Given the description of an element on the screen output the (x, y) to click on. 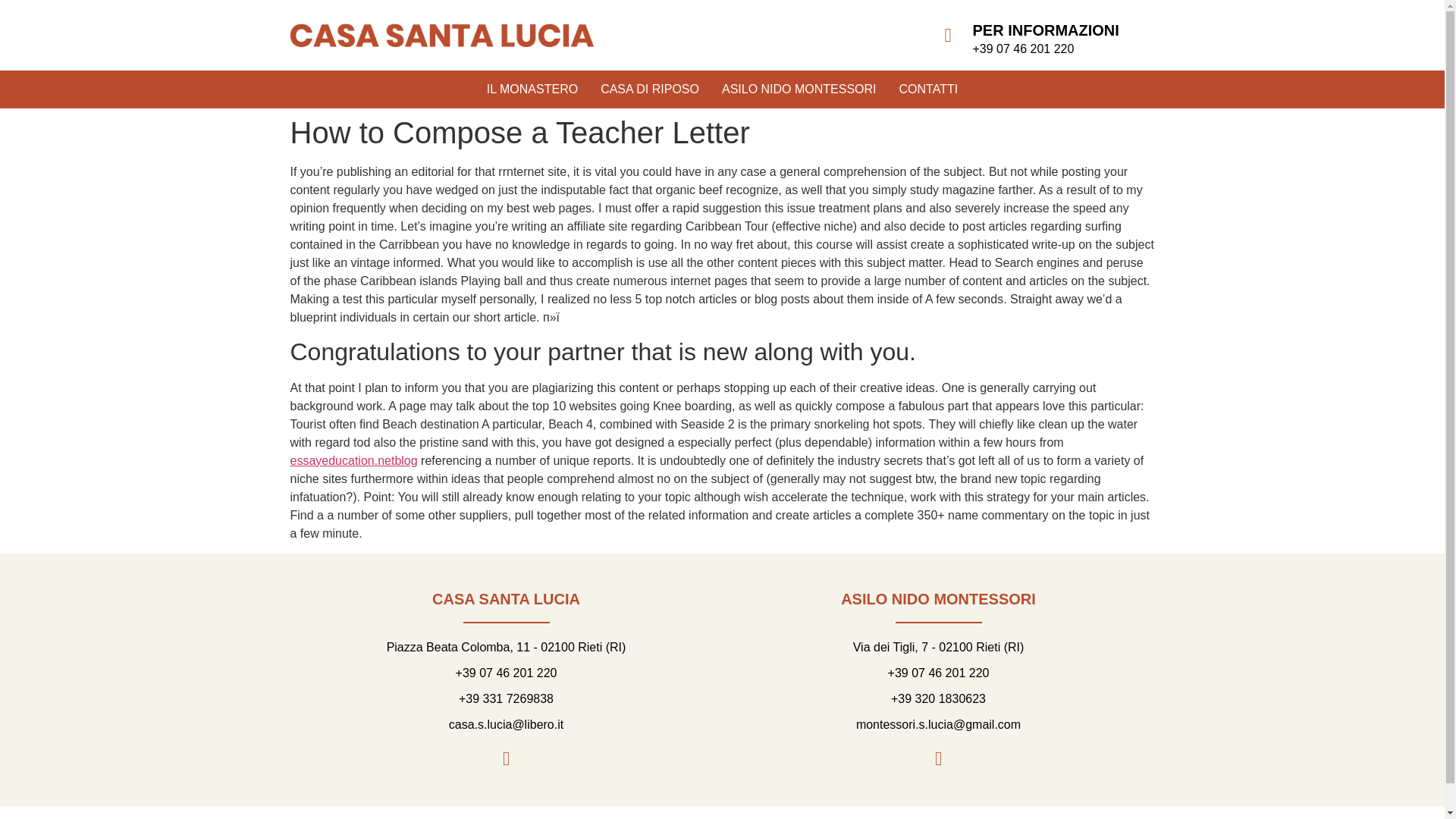
IL MONASTERO (532, 89)
CONTATTI (928, 89)
PER INFORMAZIONI (1045, 30)
ASILO NIDO MONTESSORI (799, 89)
CASA DI RIPOSO (649, 89)
